Given the description of an element on the screen output the (x, y) to click on. 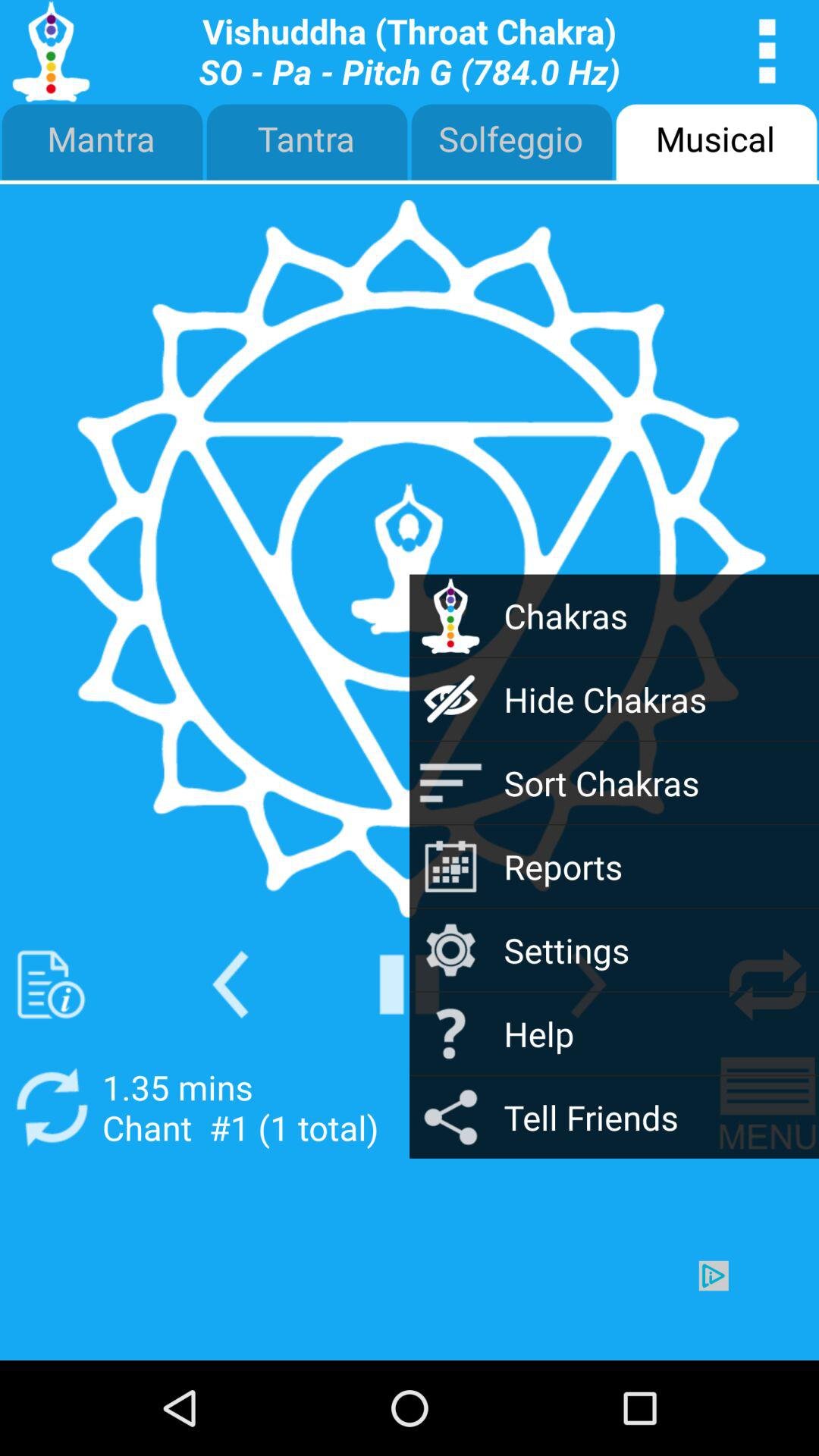
menu option (767, 51)
